Given the description of an element on the screen output the (x, y) to click on. 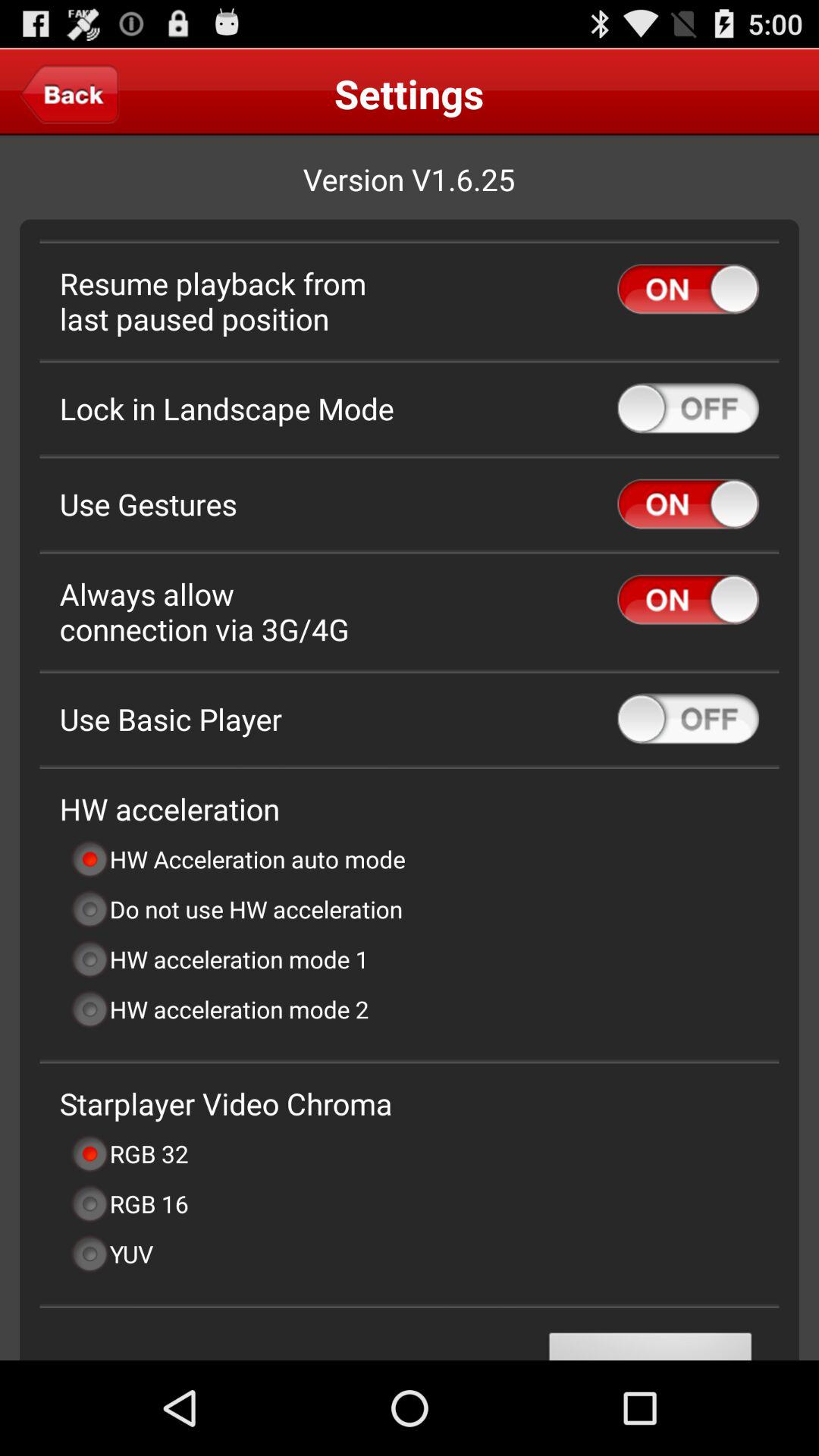
swipe until the do not use item (235, 909)
